Given the description of an element on the screen output the (x, y) to click on. 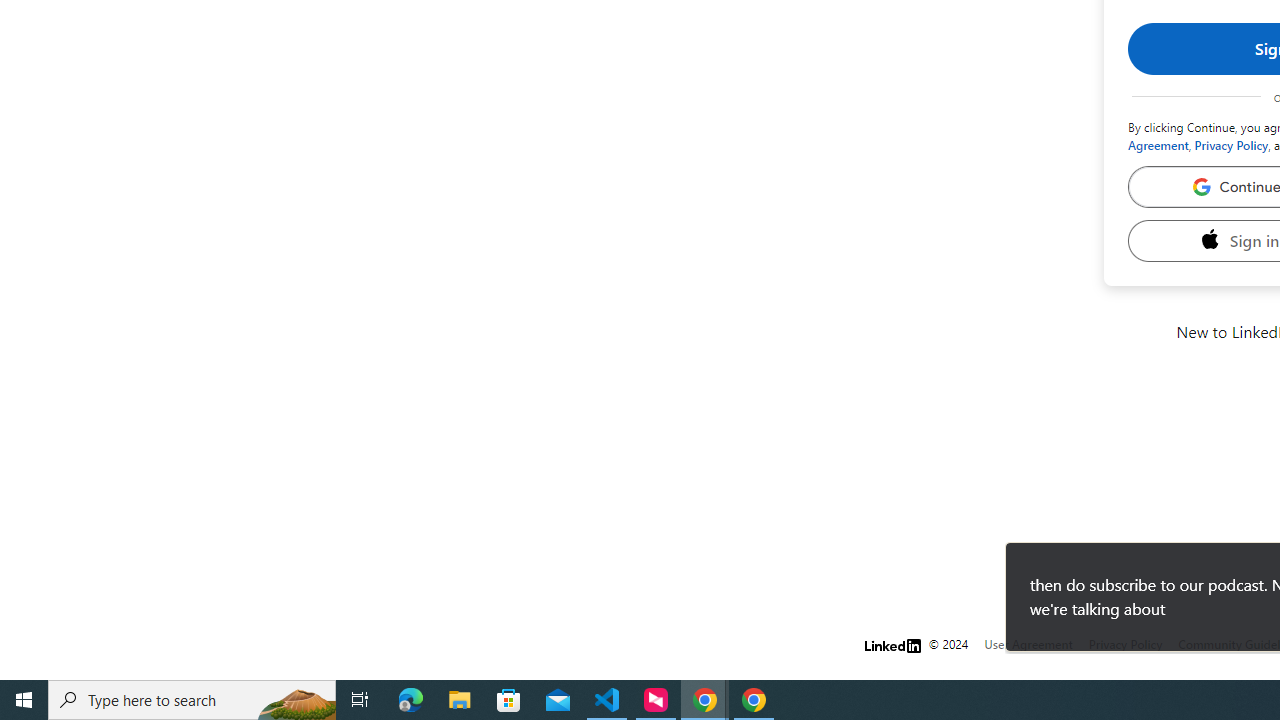
User Agreement (1028, 643)
